Given the description of an element on the screen output the (x, y) to click on. 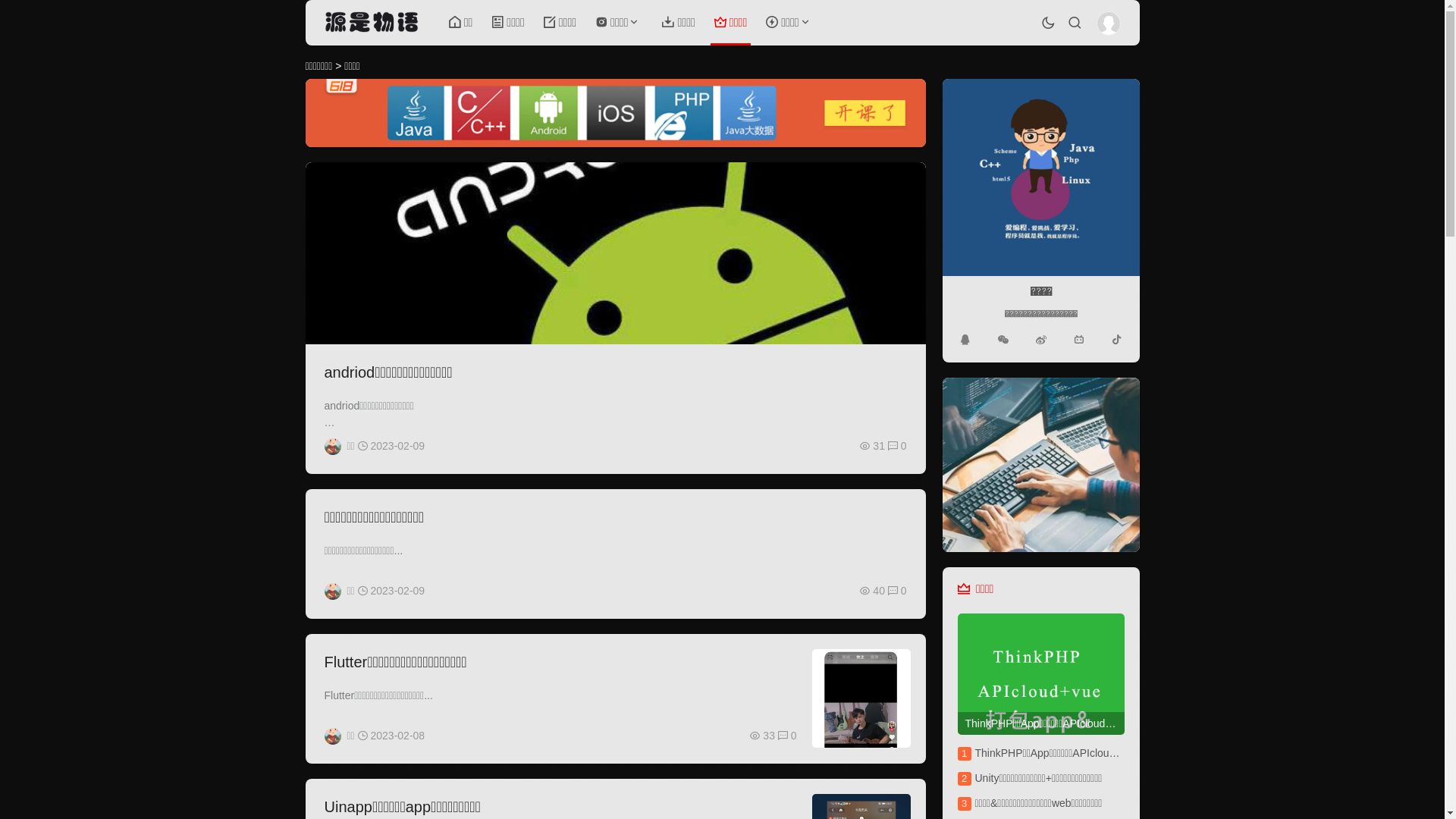
QQ Element type: hover (964, 339)
